Given the description of an element on the screen output the (x, y) to click on. 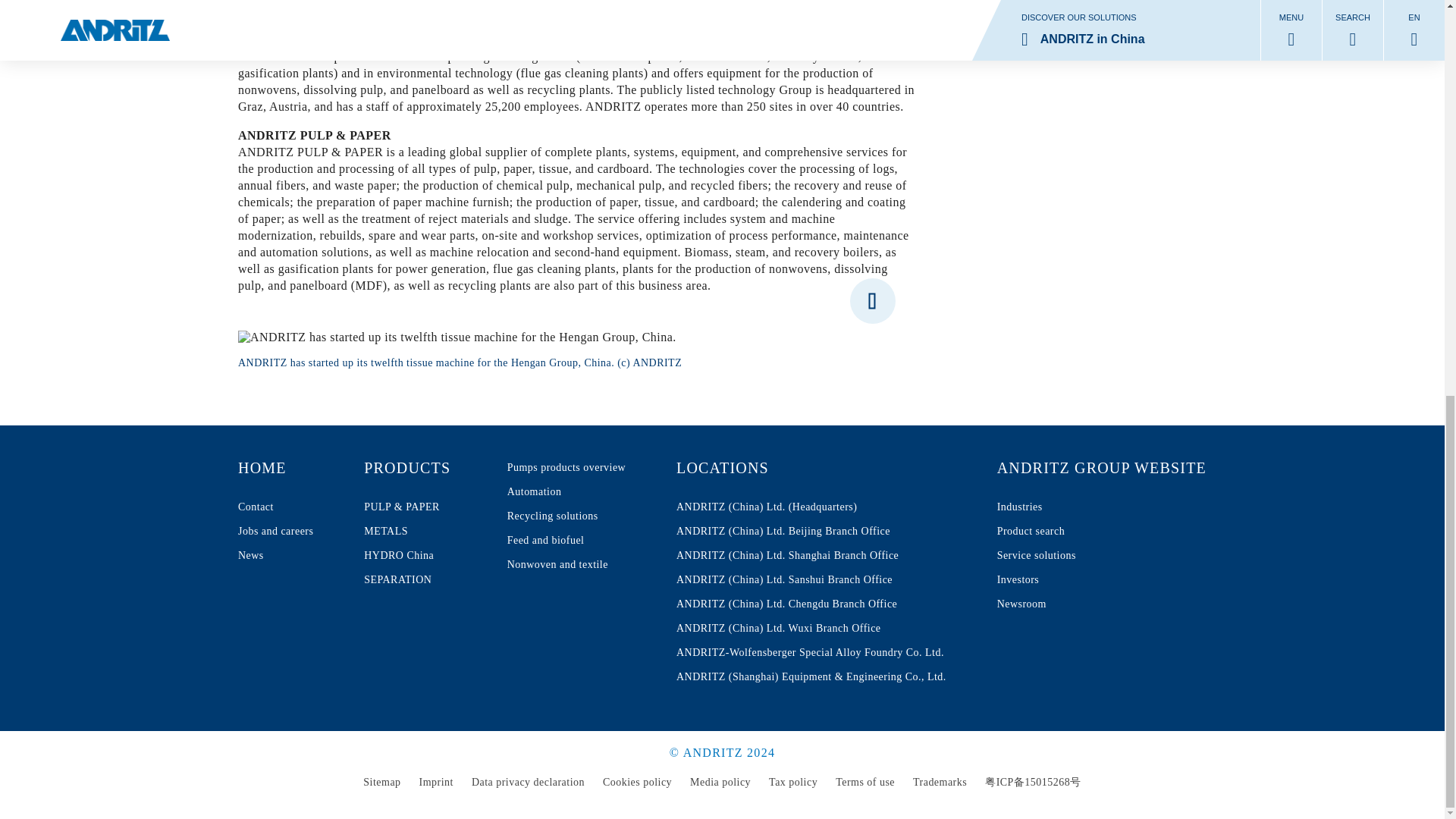
SEPARATION (422, 580)
Feed and biofuel (566, 540)
HOME (422, 531)
LOCATIONS (275, 467)
Jobs and careers (811, 467)
PRODUCTS (275, 531)
HYDRO China (422, 467)
Nonwoven and textile (422, 555)
Pumps products overview (422, 555)
METALS (422, 467)
